Given the description of an element on the screen output the (x, y) to click on. 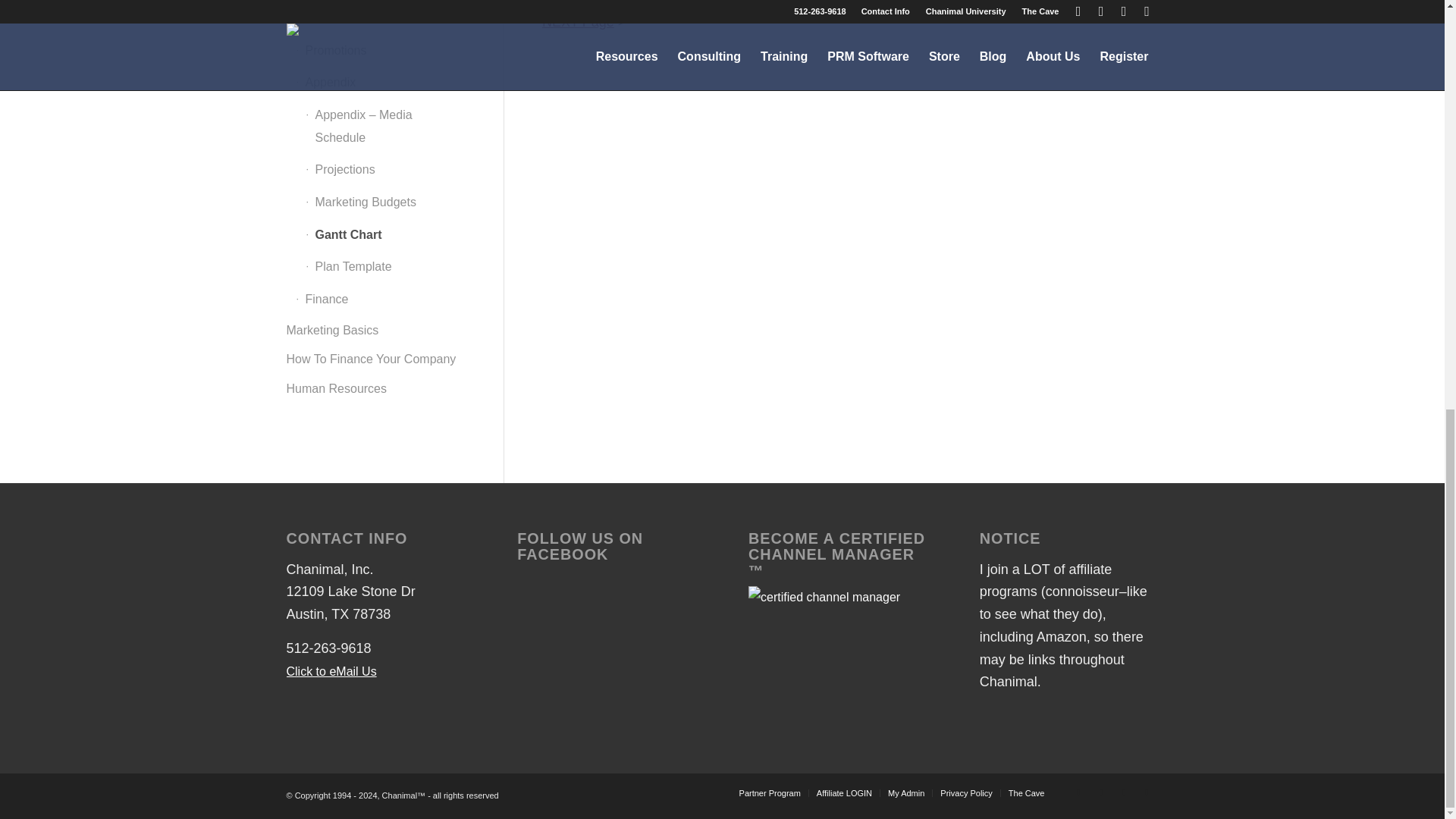
LinkedIn (1146, 792)
Facebook (1101, 792)
Facebook (1078, 792)
Plan Template (577, 21)
Youtube (1124, 792)
